Given the description of an element on the screen output the (x, y) to click on. 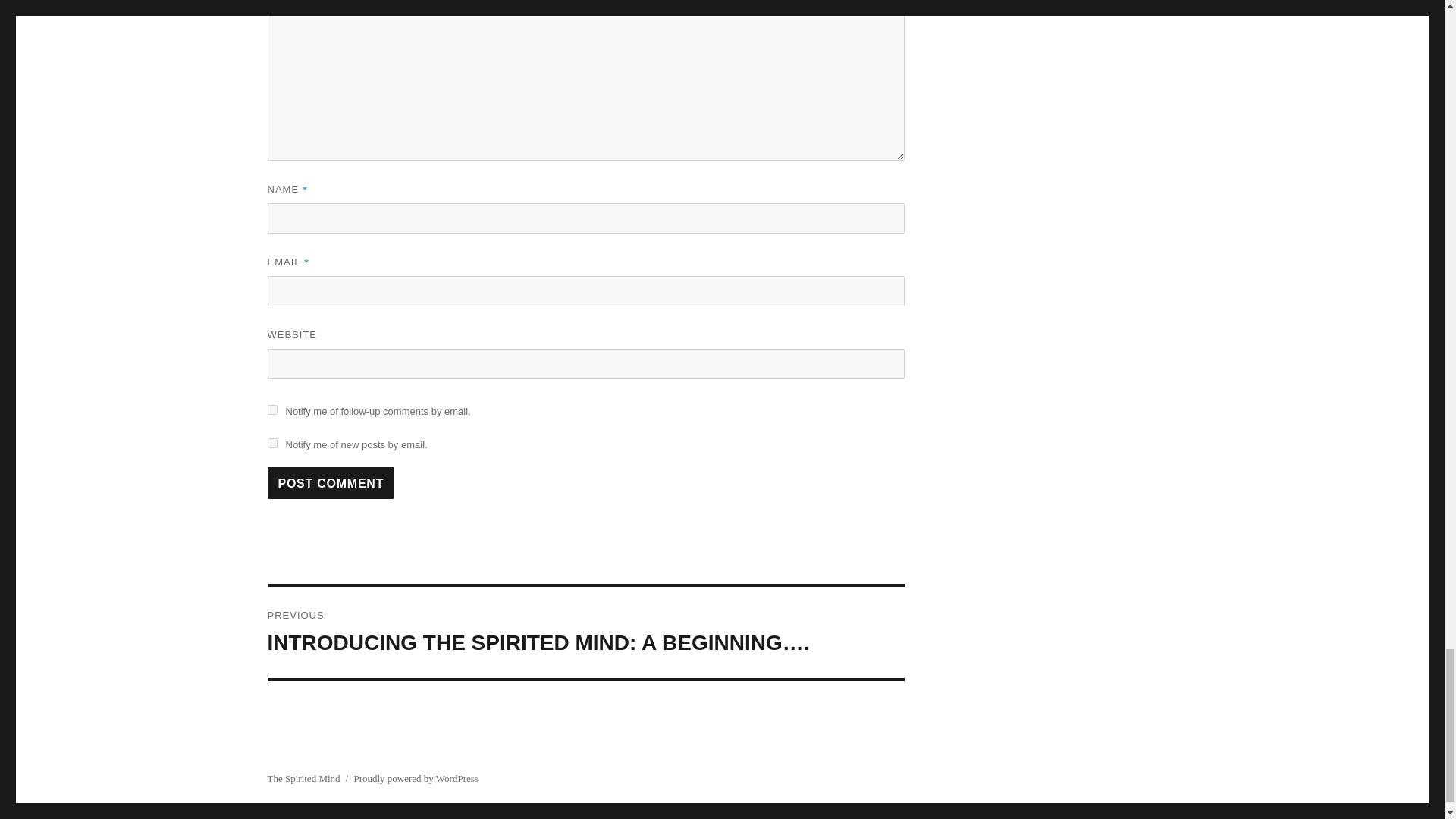
Post Comment (330, 482)
subscribe (271, 409)
subscribe (271, 442)
The Spirited Mind (302, 778)
Post Comment (330, 482)
Proudly powered by WordPress (415, 778)
